Given the description of an element on the screen output the (x, y) to click on. 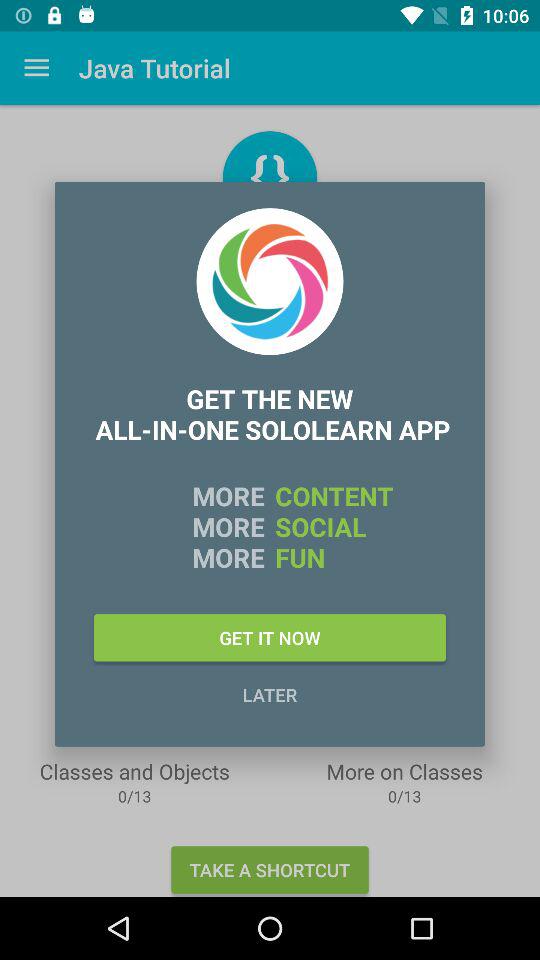
swipe until the get it now icon (269, 637)
